Given the description of an element on the screen output the (x, y) to click on. 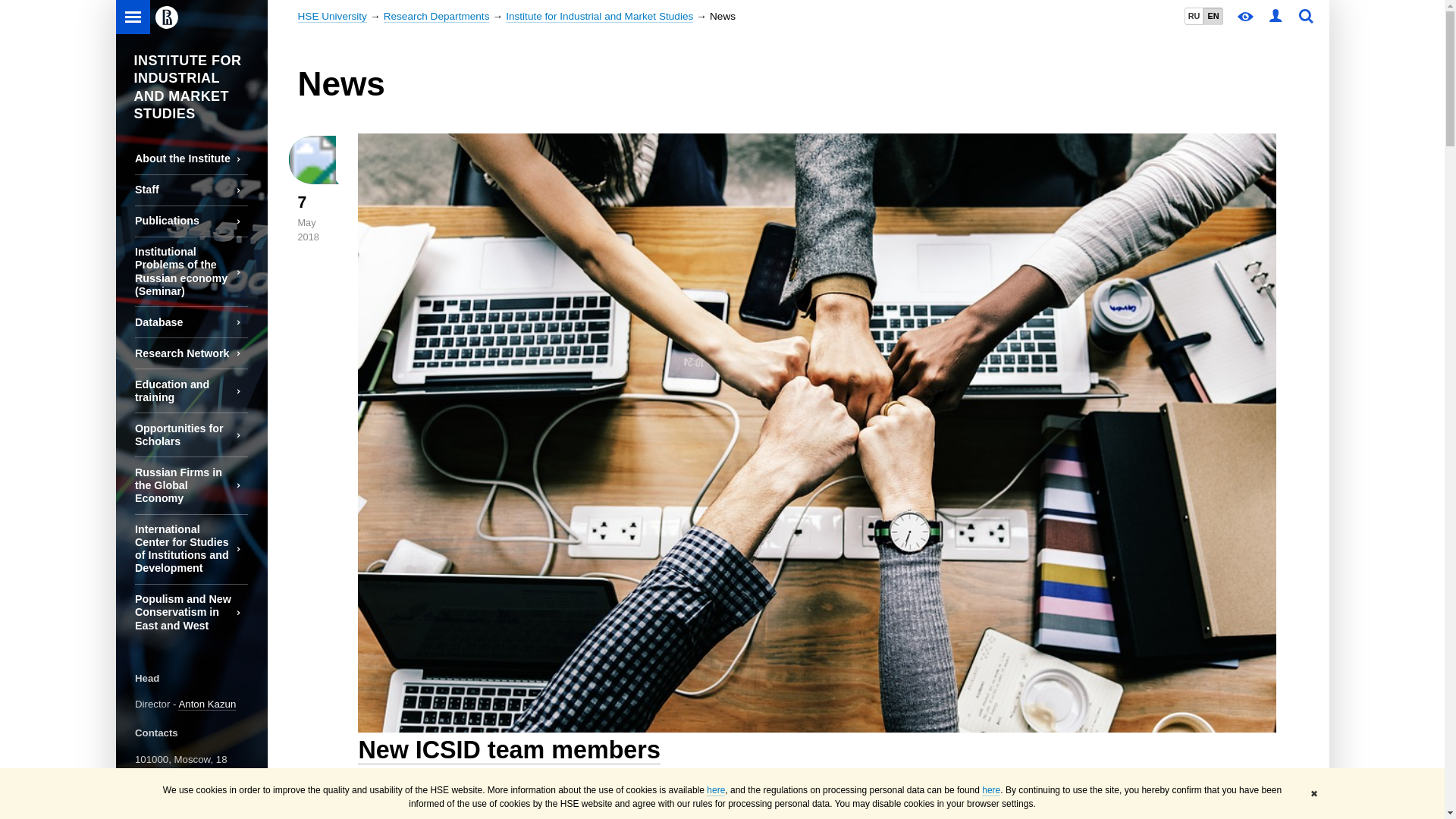
RU (1194, 16)
About the Institute (191, 159)
here (715, 790)
Staff (191, 189)
INSTITUTE FOR INDUSTRIAL AND MARKET STUDIES (190, 82)
Database (191, 321)
HSE University (331, 16)
here (990, 790)
Institute for Industrial and Market Studies (599, 16)
Officially (494, 815)
